Given the description of an element on the screen output the (x, y) to click on. 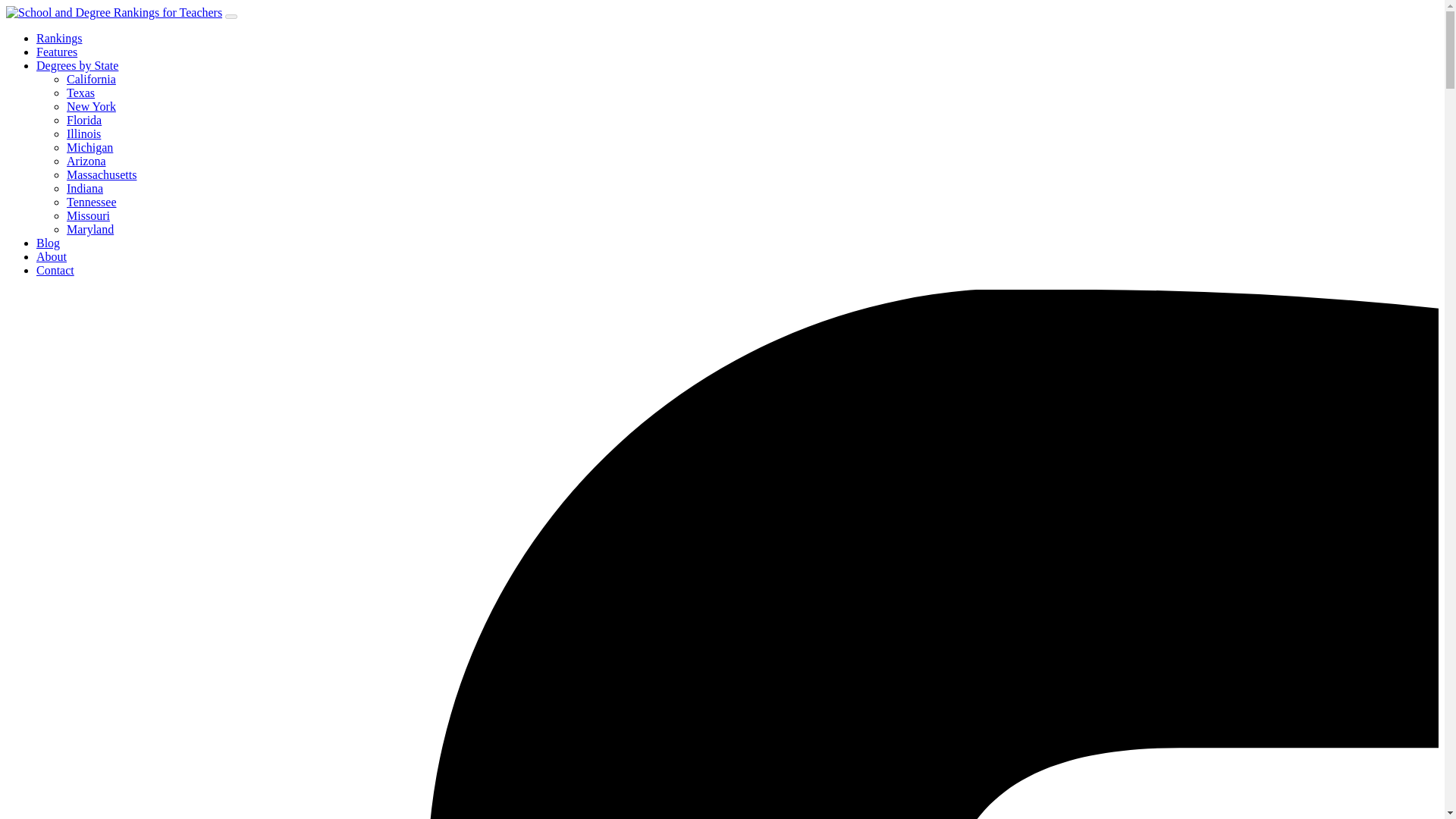
Texas (80, 92)
Blog (47, 242)
Blog (47, 242)
Massachusetts (101, 174)
New York (91, 106)
Maryland (89, 228)
Florida (83, 119)
Missouri (88, 215)
Illinois (83, 133)
Missouri (88, 215)
